Given the description of an element on the screen output the (x, y) to click on. 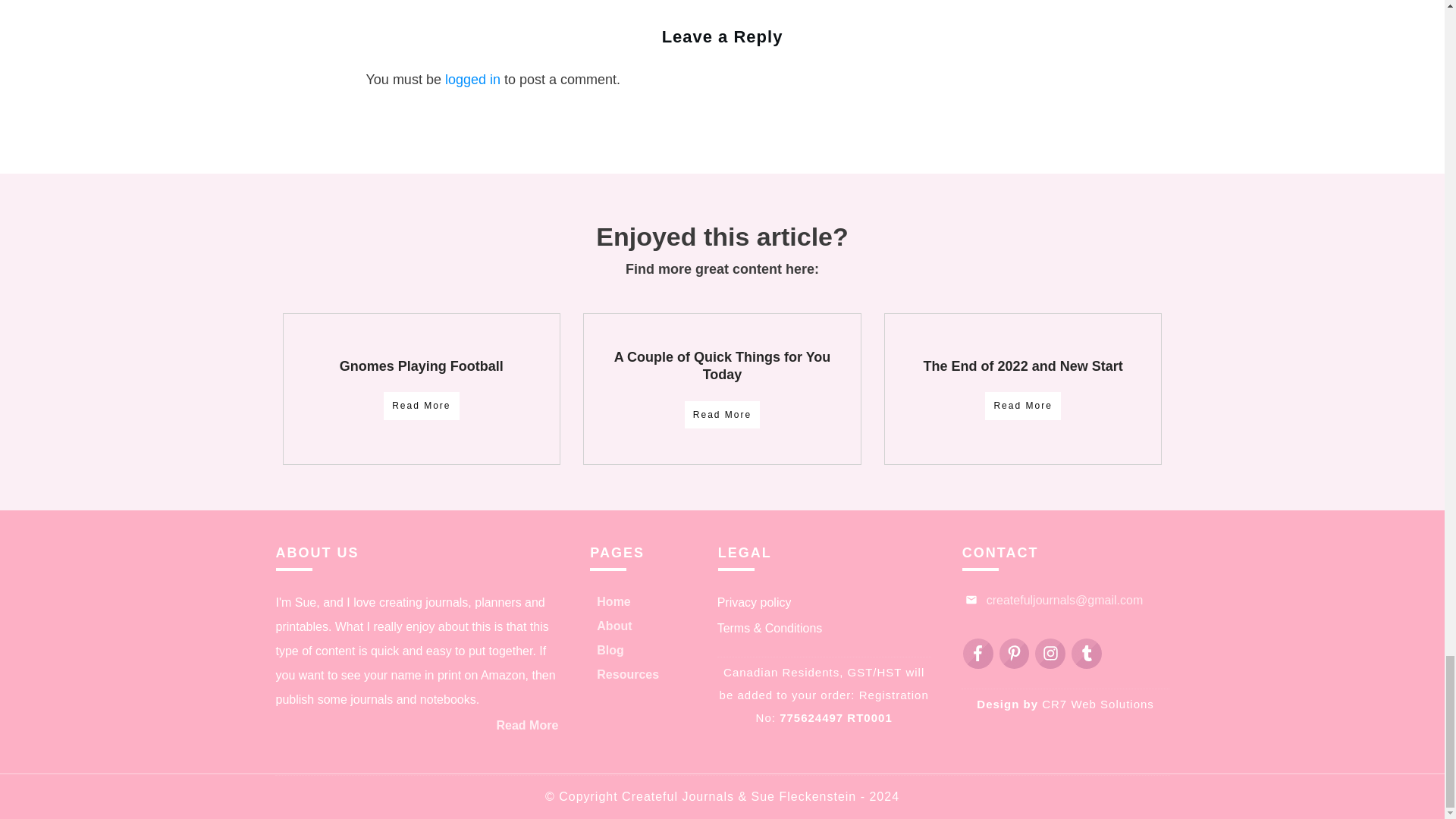
The End of 2022 and New Start (1022, 365)
A Couple of Quick Things for You Today (722, 365)
Gnomes Playing Football (421, 365)
